Given the description of an element on the screen output the (x, y) to click on. 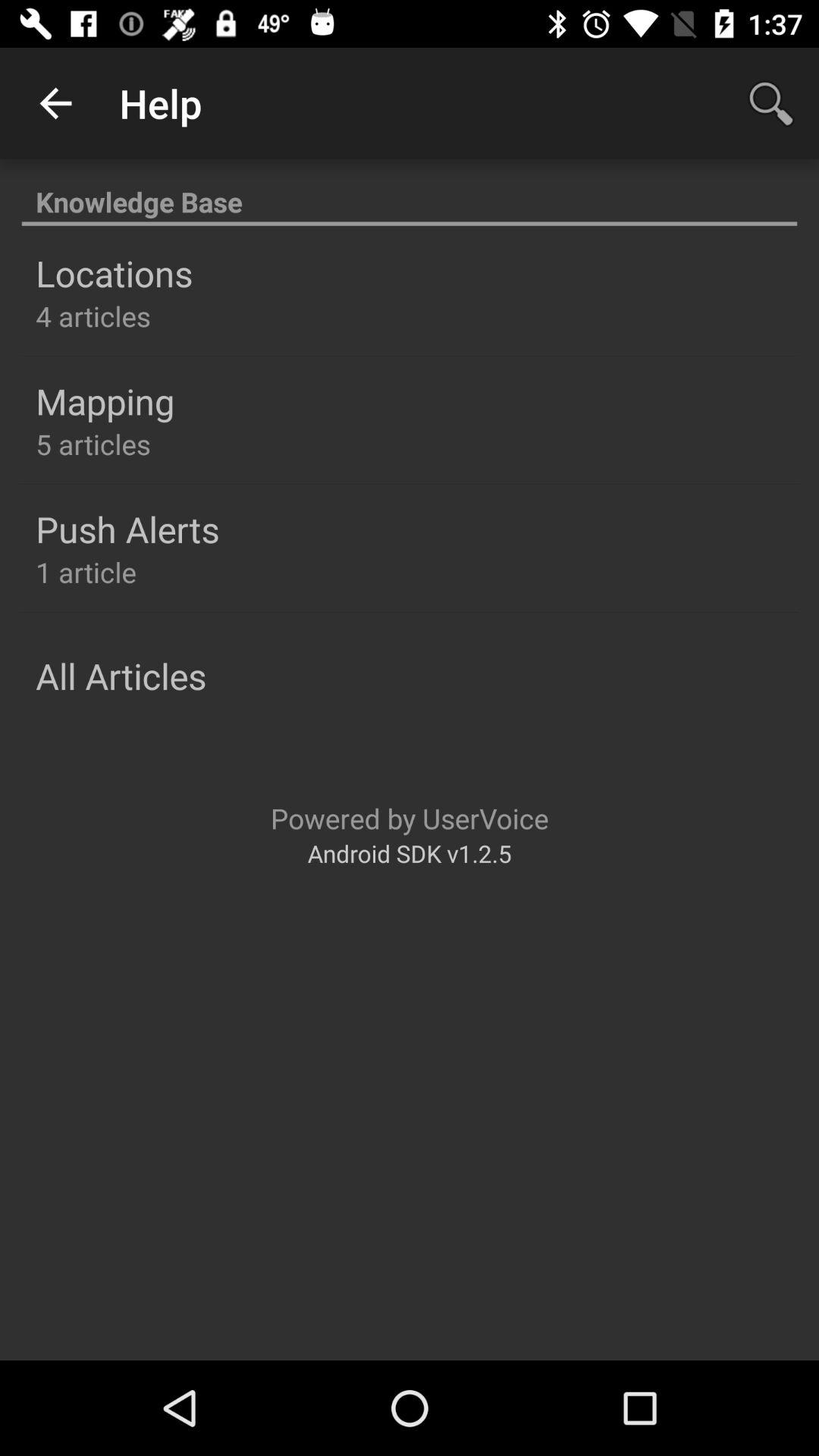
choose the icon above knowledge base icon (55, 103)
